Given the description of an element on the screen output the (x, y) to click on. 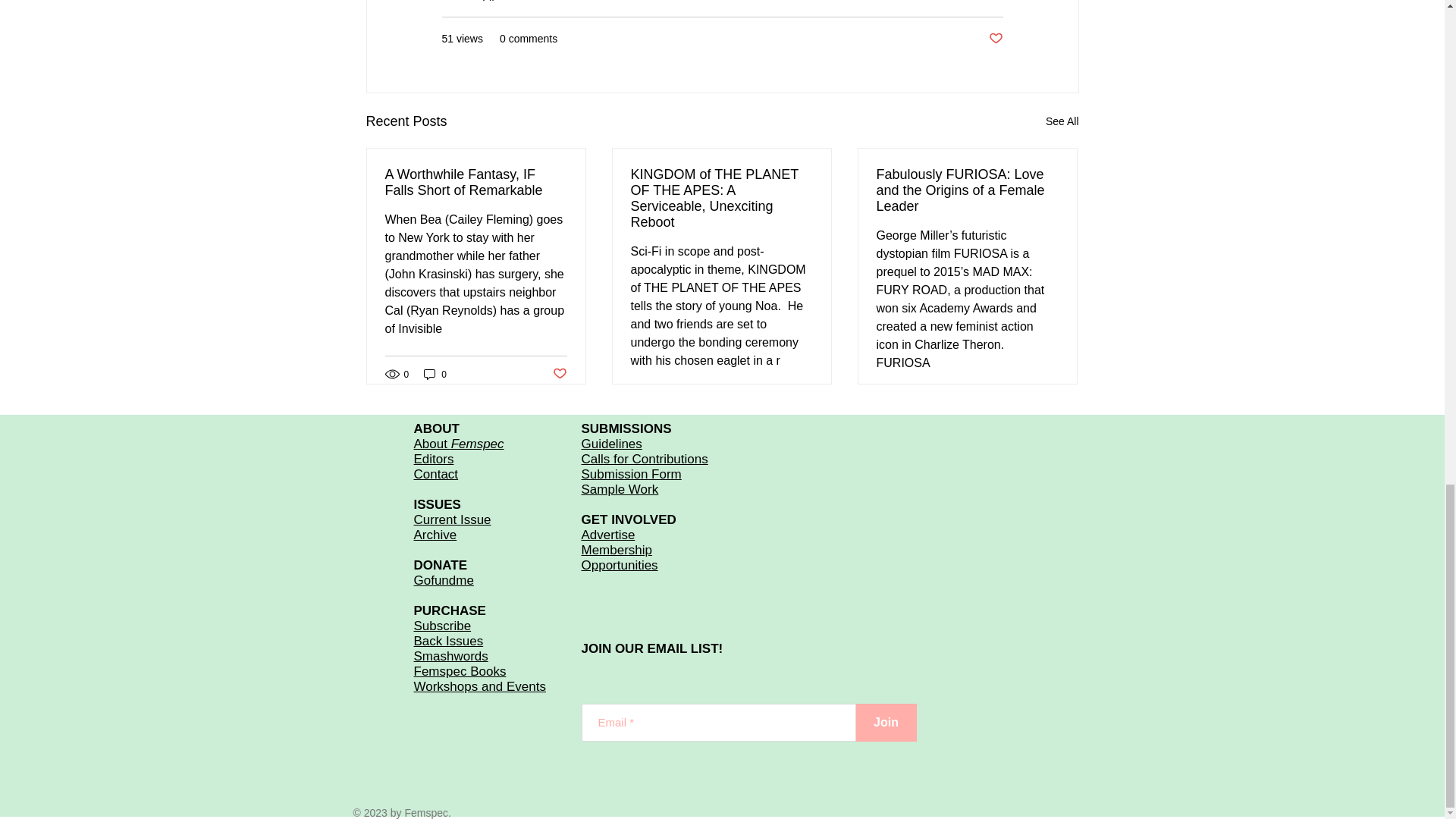
Contact (435, 473)
About Femspec (458, 443)
Gofundme (443, 580)
Current Issue (452, 519)
Fabulously FURIOSA: Love and the Origins of a Female Leader (967, 190)
See All (1061, 121)
Post not marked as liked (558, 374)
0 (435, 373)
Post not marked as liked (995, 38)
A Worthwhile Fantasy, IF Falls Short of Remarkable (476, 183)
